Given the description of an element on the screen output the (x, y) to click on. 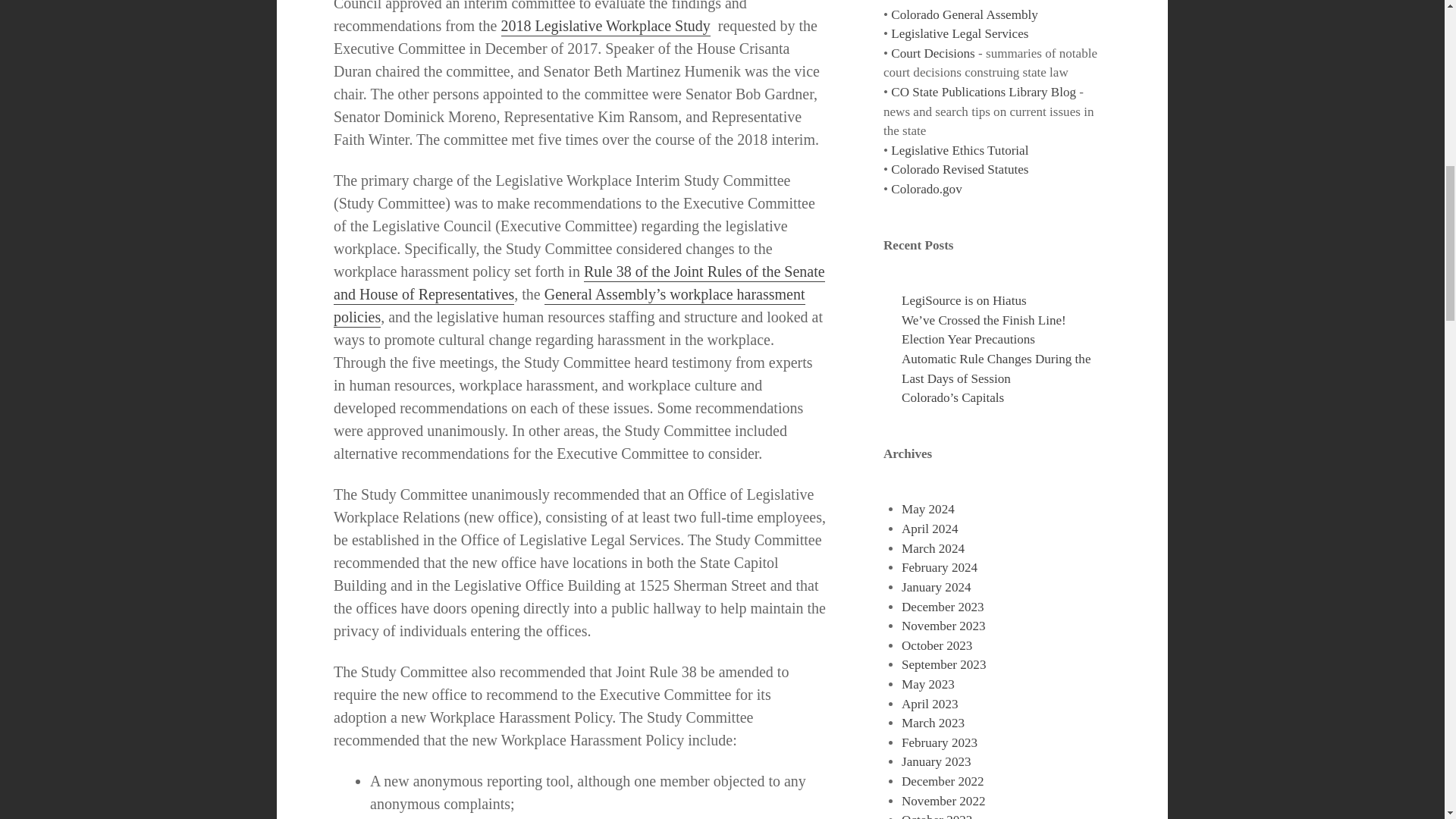
CO State Publications Library Blog (983, 92)
Legislative Ethics Tutorial (959, 150)
2018 Legislative Workplace Study (605, 26)
Colorado Revised Statutes (959, 169)
Court Decisions (933, 52)
Legislative Legal Services (959, 33)
Colorado.gov (925, 188)
Colorado General Assembly (964, 14)
